Given the description of an element on the screen output the (x, y) to click on. 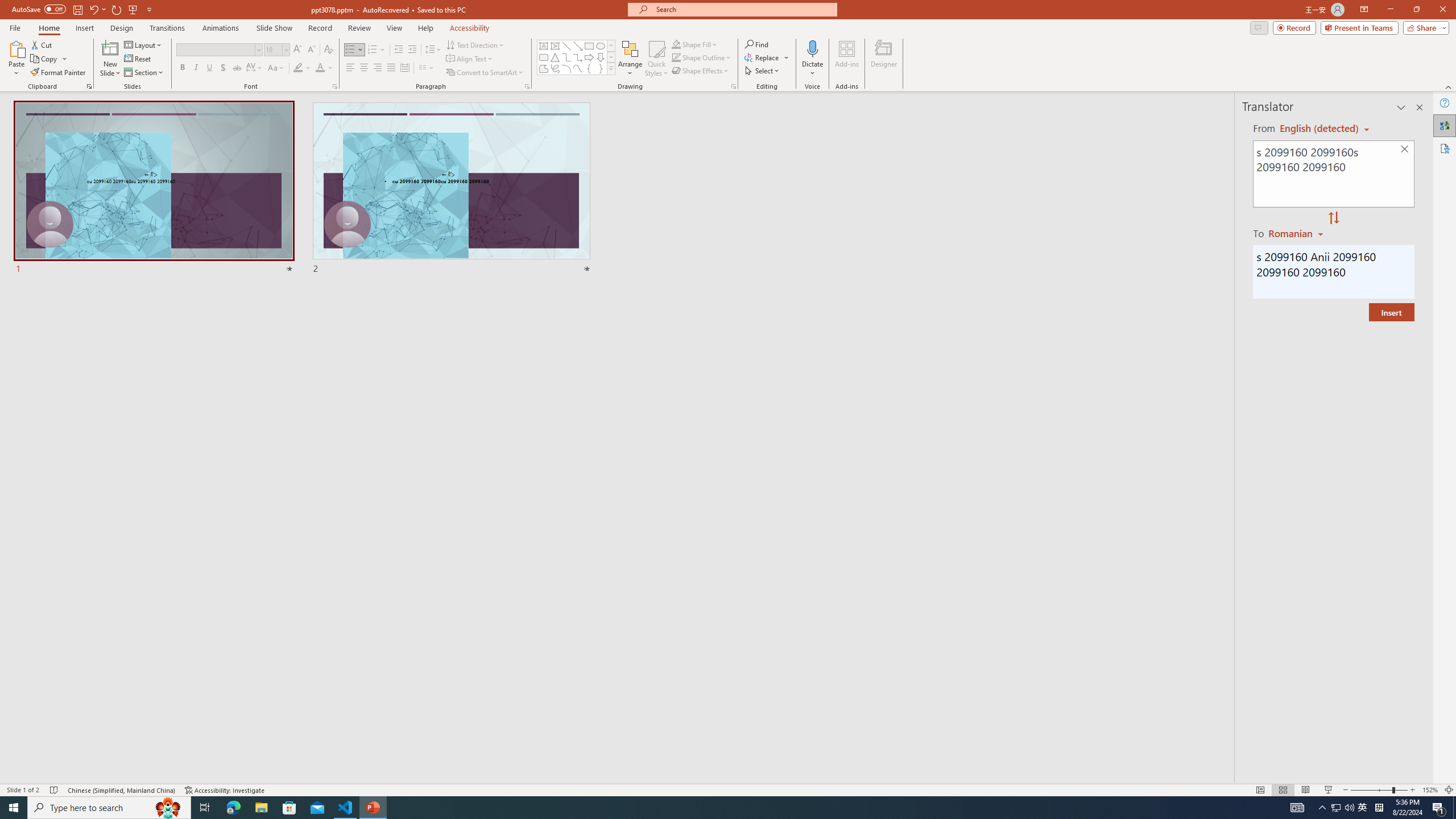
Text Highlight Color Yellow (297, 67)
Increase Indent (412, 49)
Vertical Text Box (554, 45)
Isosceles Triangle (554, 57)
Curve (577, 68)
Font... (334, 85)
Romanian (1296, 232)
Line (566, 45)
